Given the description of an element on the screen output the (x, y) to click on. 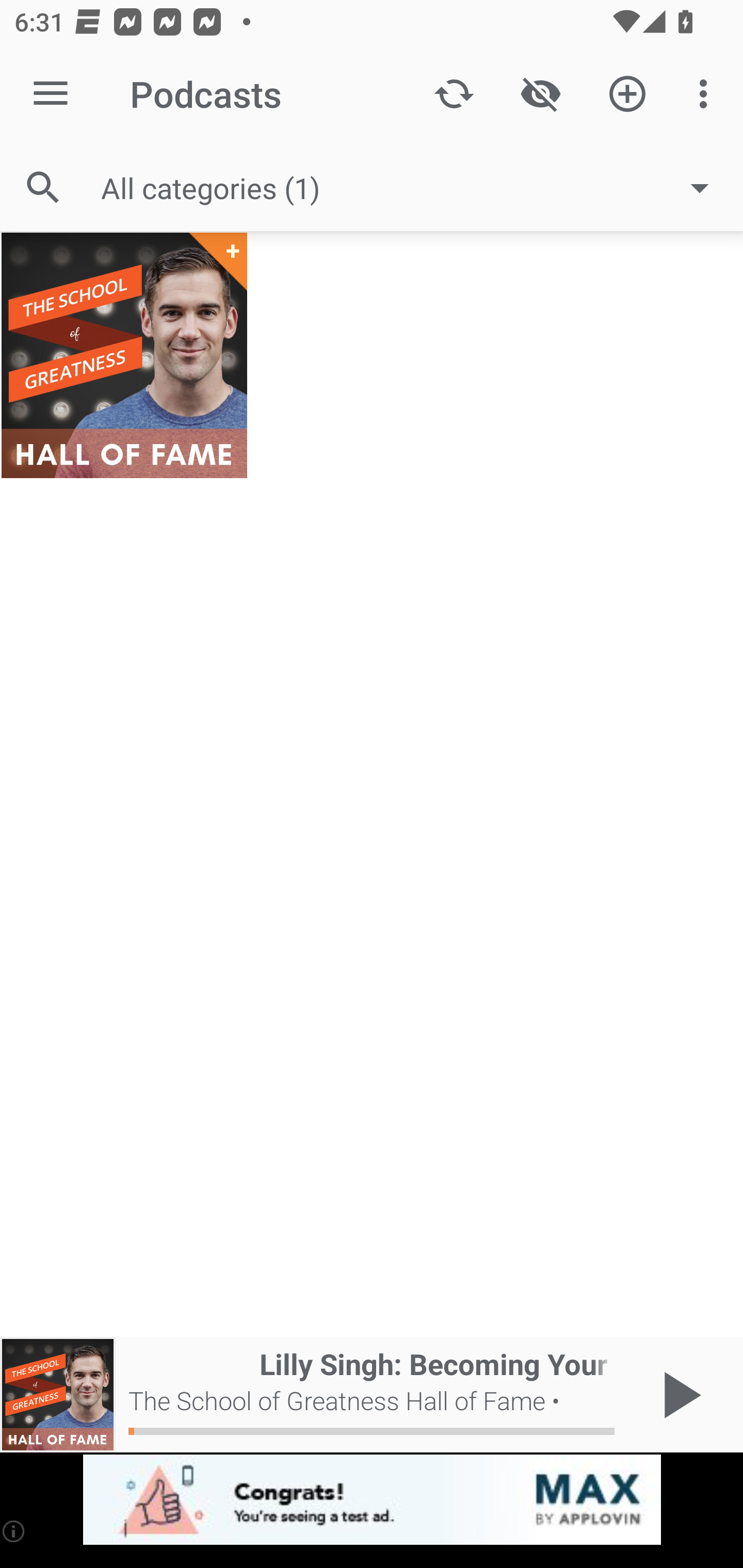
Open navigation sidebar (50, 93)
Update (453, 93)
Show / Hide played content (540, 93)
Add new Podcast (626, 93)
More options (706, 93)
Search (43, 187)
All categories (1) (414, 188)
The School of Greatness Hall of Fame + (124, 355)
Play / Pause (677, 1394)
app-monetization (371, 1500)
(i) (14, 1531)
